Given the description of an element on the screen output the (x, y) to click on. 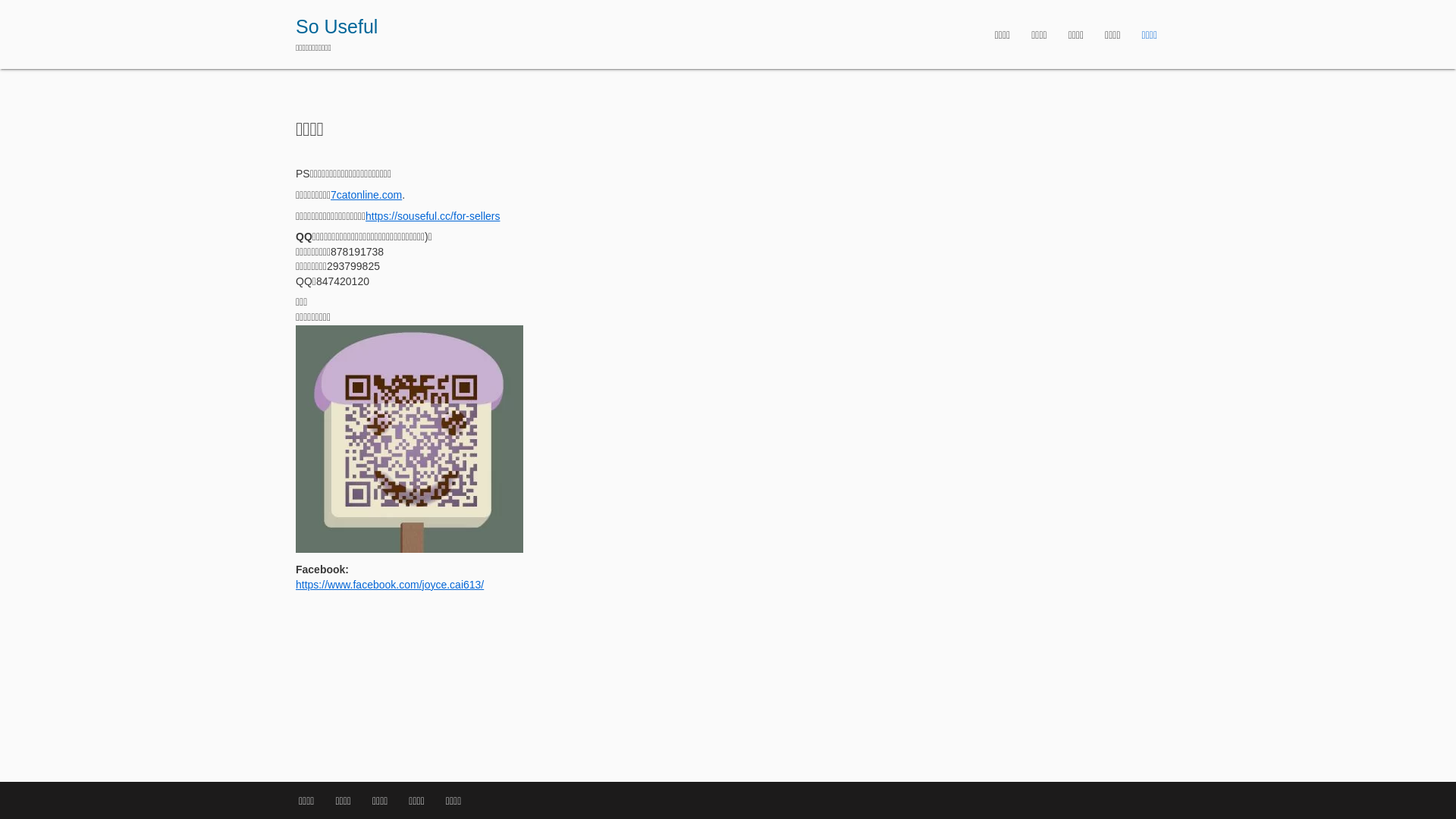
7catonline.com Element type: text (365, 194)
https://souseful.cc/for-sellers Element type: text (432, 215)
https://www.facebook.com/joyce.cai613/ Element type: text (389, 584)
